Given the description of an element on the screen output the (x, y) to click on. 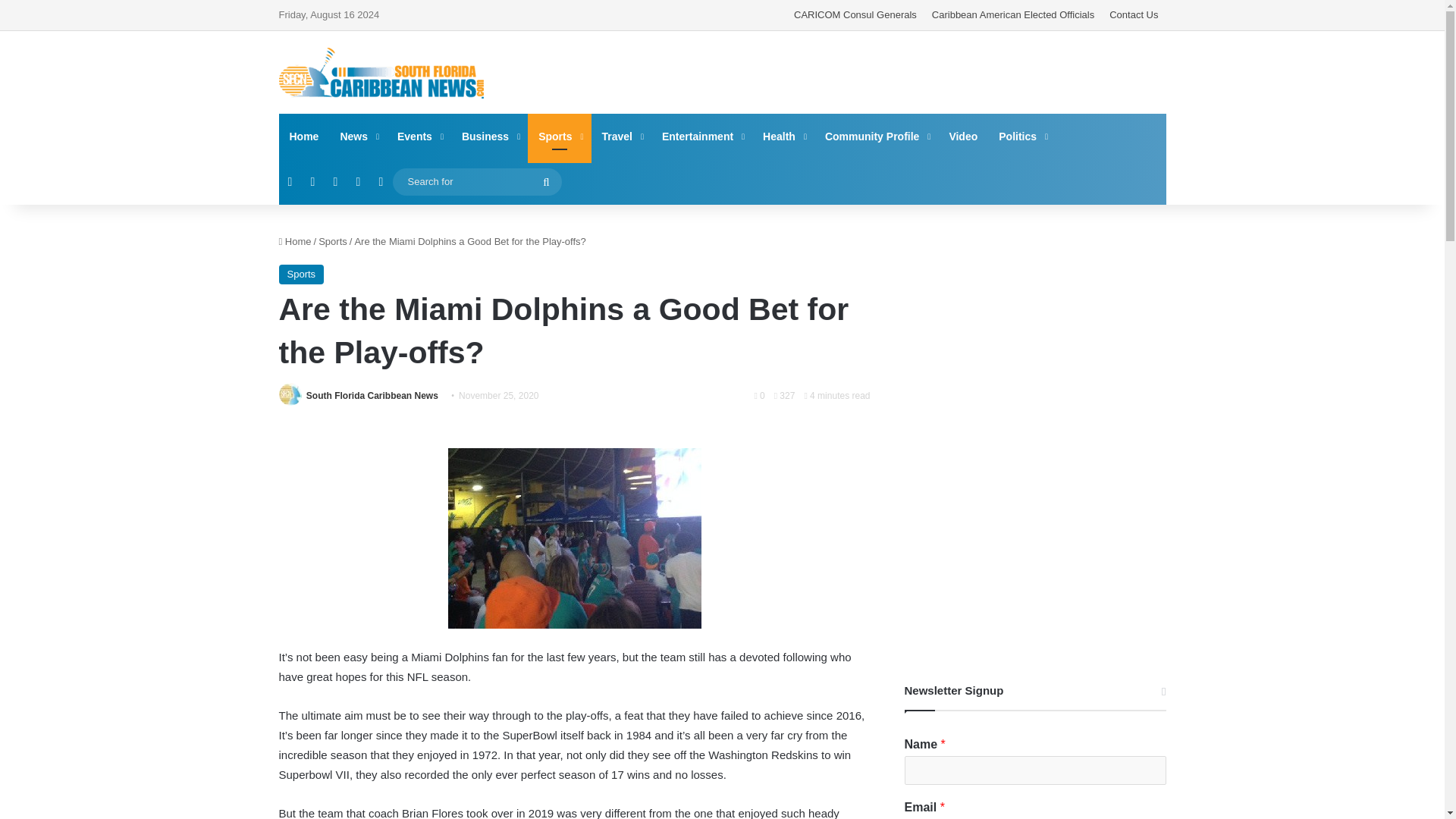
Caribbean American Elected Officials (1013, 15)
Sports (559, 135)
News (358, 135)
South Florida Caribbean News (371, 395)
Sports (332, 241)
Home (295, 241)
Politics (1021, 135)
3rd party ad content (873, 70)
Home (304, 135)
South Florida Caribbean News (381, 72)
